Given the description of an element on the screen output the (x, y) to click on. 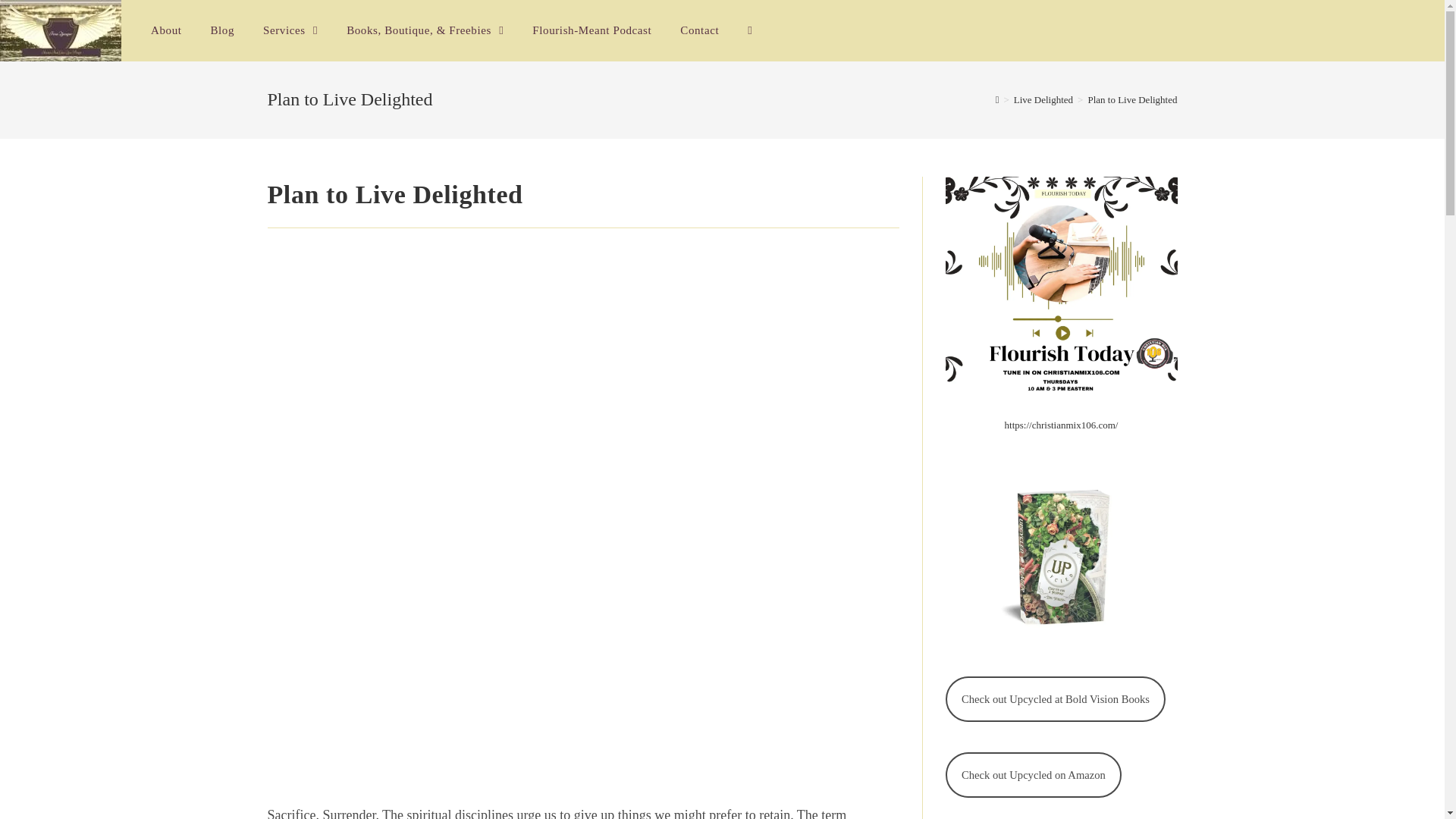
Flourish-Meant Podcast (591, 30)
Contact (699, 30)
Services (289, 30)
About (166, 30)
